Given the description of an element on the screen output the (x, y) to click on. 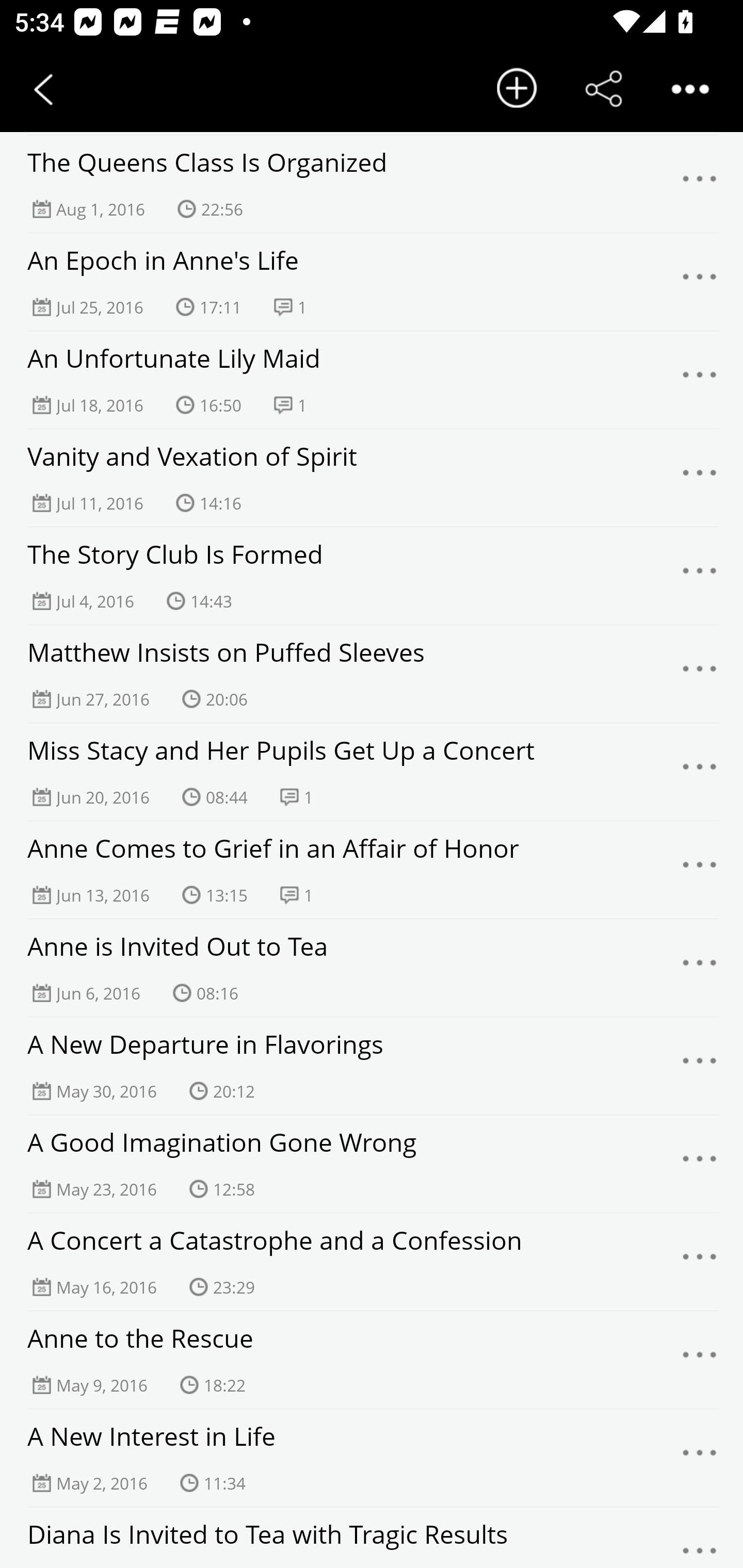
Back (43, 88)
Menu (699, 184)
An Epoch in Anne's Life Jul 25, 2016 17:11 1 Menu (371, 281)
Menu (699, 282)
An Unfortunate Lily Maid Jul 18, 2016 16:50 1 Menu (371, 379)
Menu (699, 380)
Menu (699, 478)
The Story Club Is Formed Jul 4, 2016 14:43 Menu (371, 575)
Menu (699, 576)
Menu (699, 674)
Menu (699, 772)
Menu (699, 870)
Anne is Invited Out to Tea Jun 6, 2016 08:16 Menu (371, 967)
Menu (699, 968)
Menu (699, 1066)
Menu (699, 1164)
Menu (699, 1262)
Anne to the Rescue May 9, 2016 18:22 Menu (371, 1359)
Menu (699, 1360)
A New Interest in Life May 2, 2016 11:34 Menu (371, 1457)
Menu (699, 1458)
Diana Is Invited to Tea with Tragic Results Menu (371, 1537)
Menu (699, 1540)
